Given the description of an element on the screen output the (x, y) to click on. 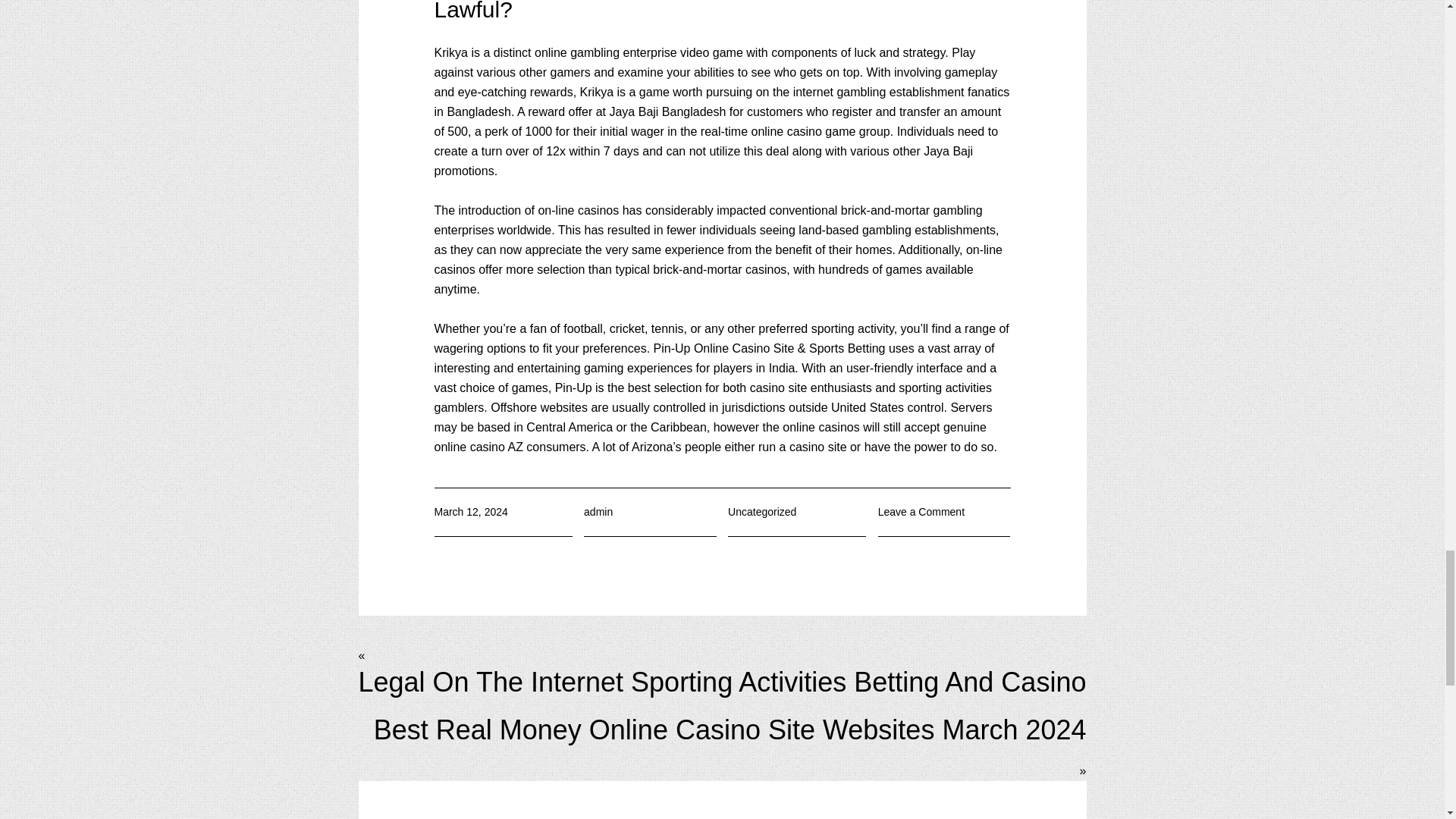
Uncategorized (762, 511)
Leave a Comment (920, 511)
admin (597, 511)
